Given the description of an element on the screen output the (x, y) to click on. 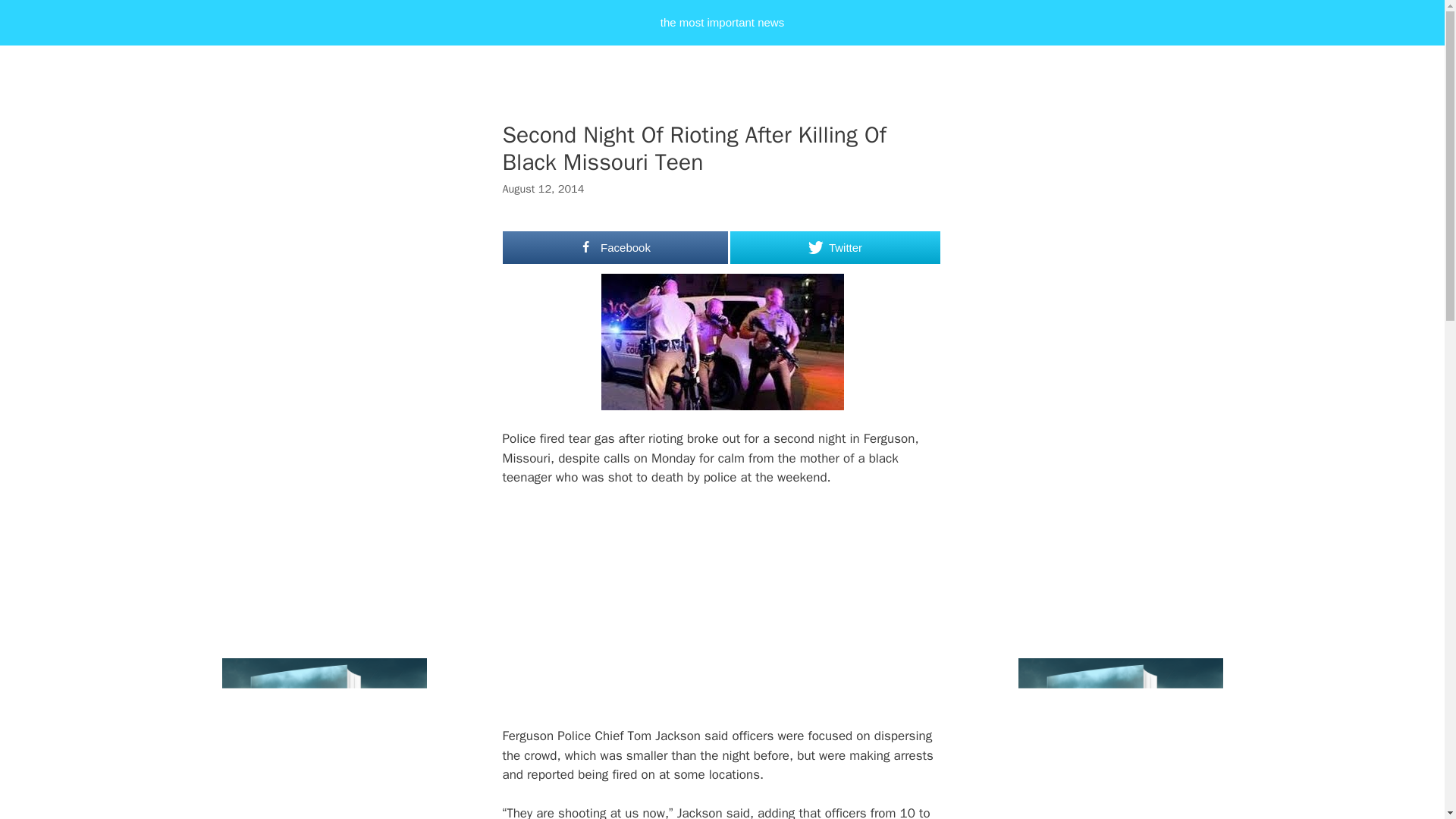
Search (33, 17)
the most important news (722, 22)
Facebook (615, 246)
Facebook (615, 246)
Twitter (834, 246)
Twitter (834, 246)
the most important news (722, 22)
Advertisement (756, 612)
